Given the description of an element on the screen output the (x, y) to click on. 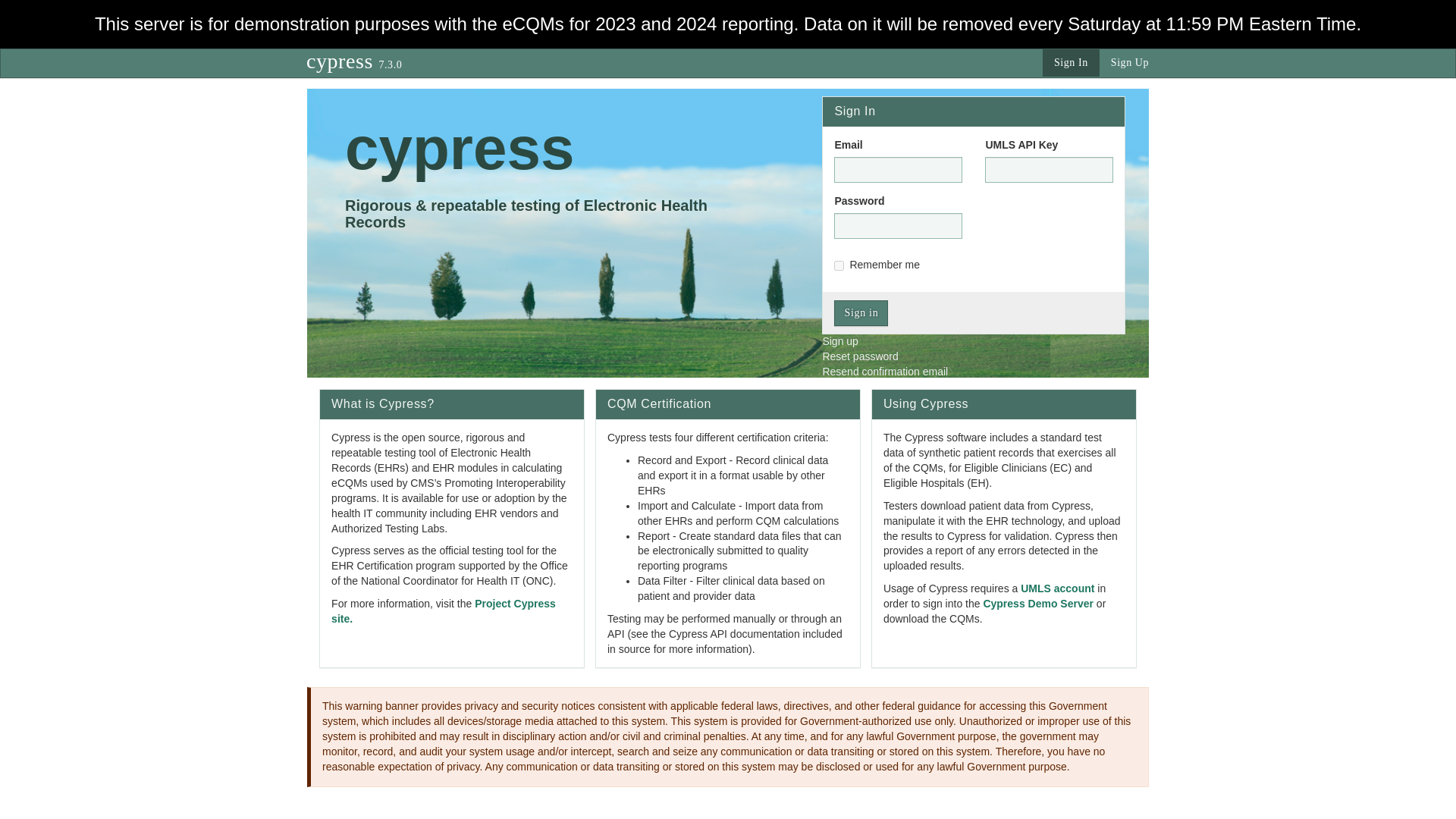
Reset password (860, 356)
cypress 7.3.0 (353, 60)
Resend confirmation email (884, 371)
Sign in (861, 312)
Sign Up (1129, 62)
Sign up (839, 340)
Sign in (861, 312)
Project Cypress site. (443, 610)
UMLS account (1057, 588)
Sign In (1070, 62)
Cypress Demo Server (1037, 603)
1 (839, 266)
